Given the description of an element on the screen output the (x, y) to click on. 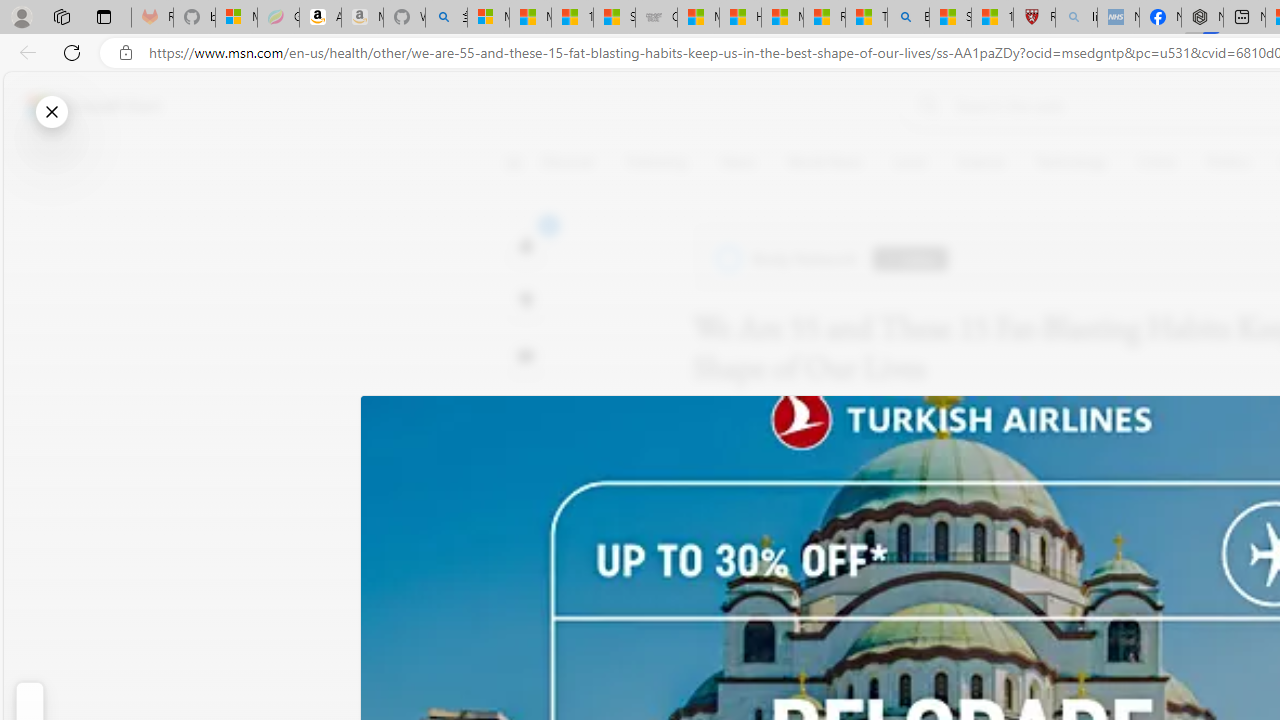
How I Got Rid of Microsoft Edge's Unnecessary Features (740, 17)
Bing (908, 17)
